Given the description of an element on the screen output the (x, y) to click on. 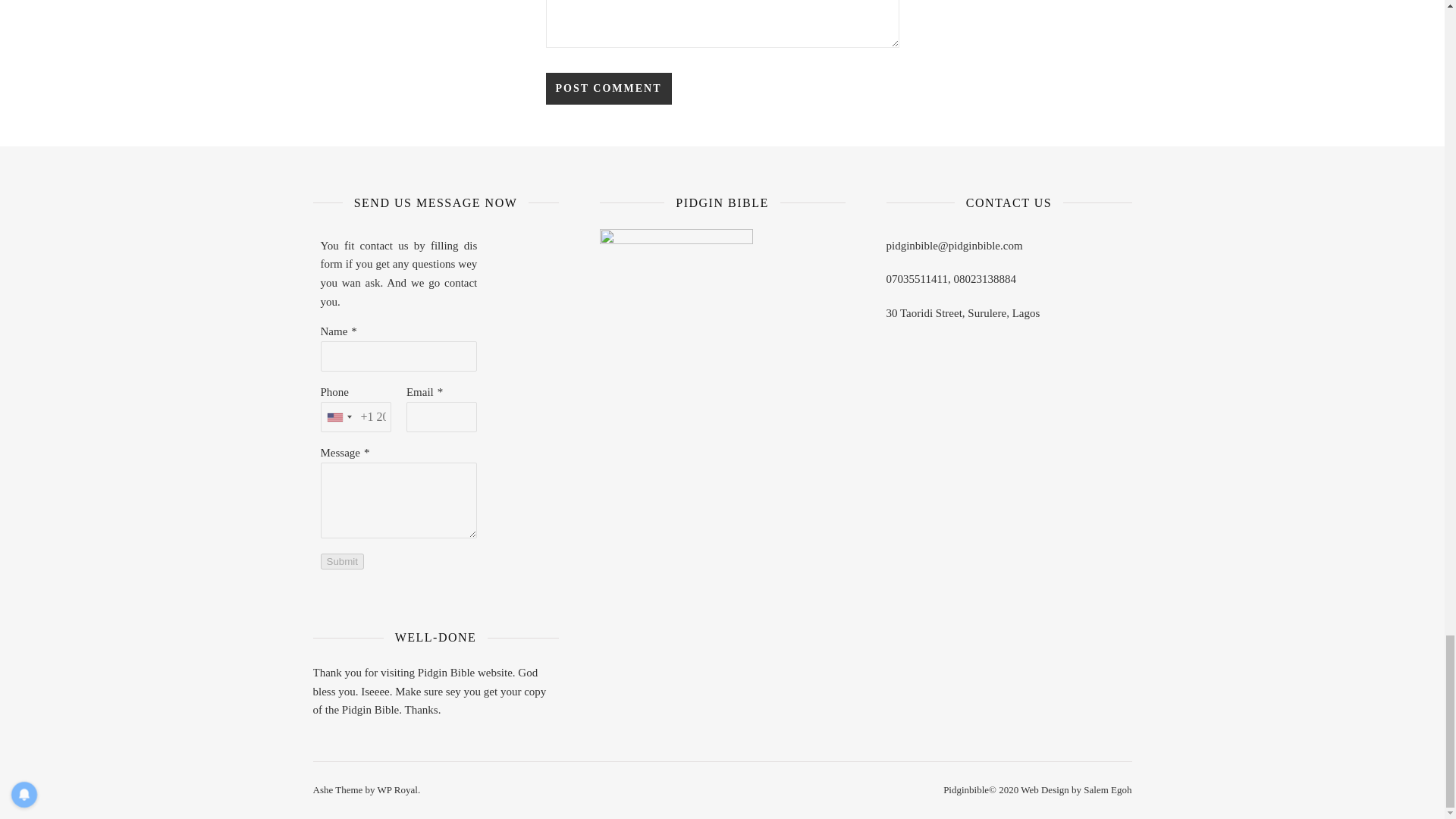
Post Comment (608, 88)
